Given the description of an element on the screen output the (x, y) to click on. 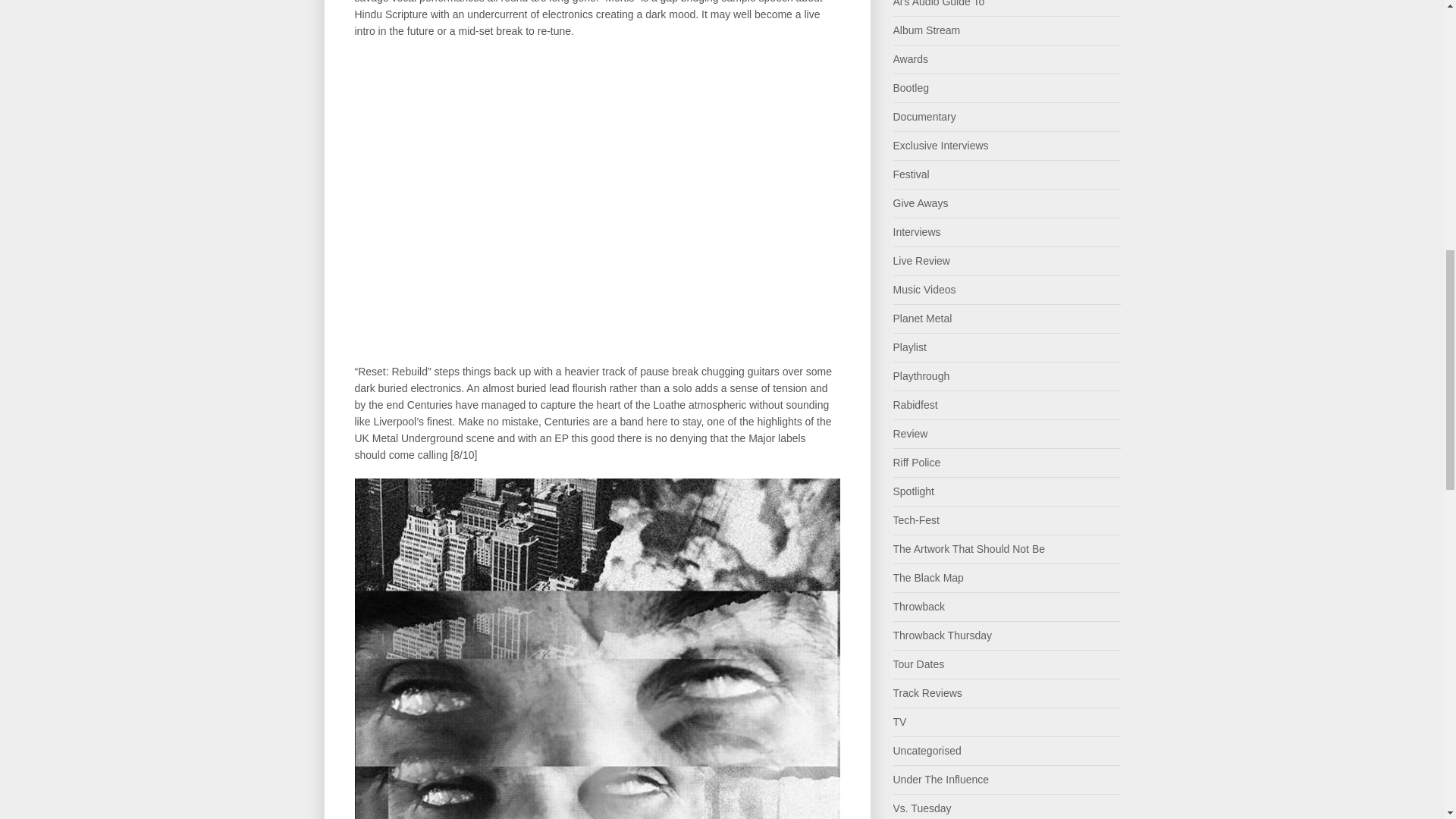
Awards (910, 59)
Album Stream (926, 30)
Bootleg (910, 87)
Al's Audio Guide To (939, 3)
